Given the description of an element on the screen output the (x, y) to click on. 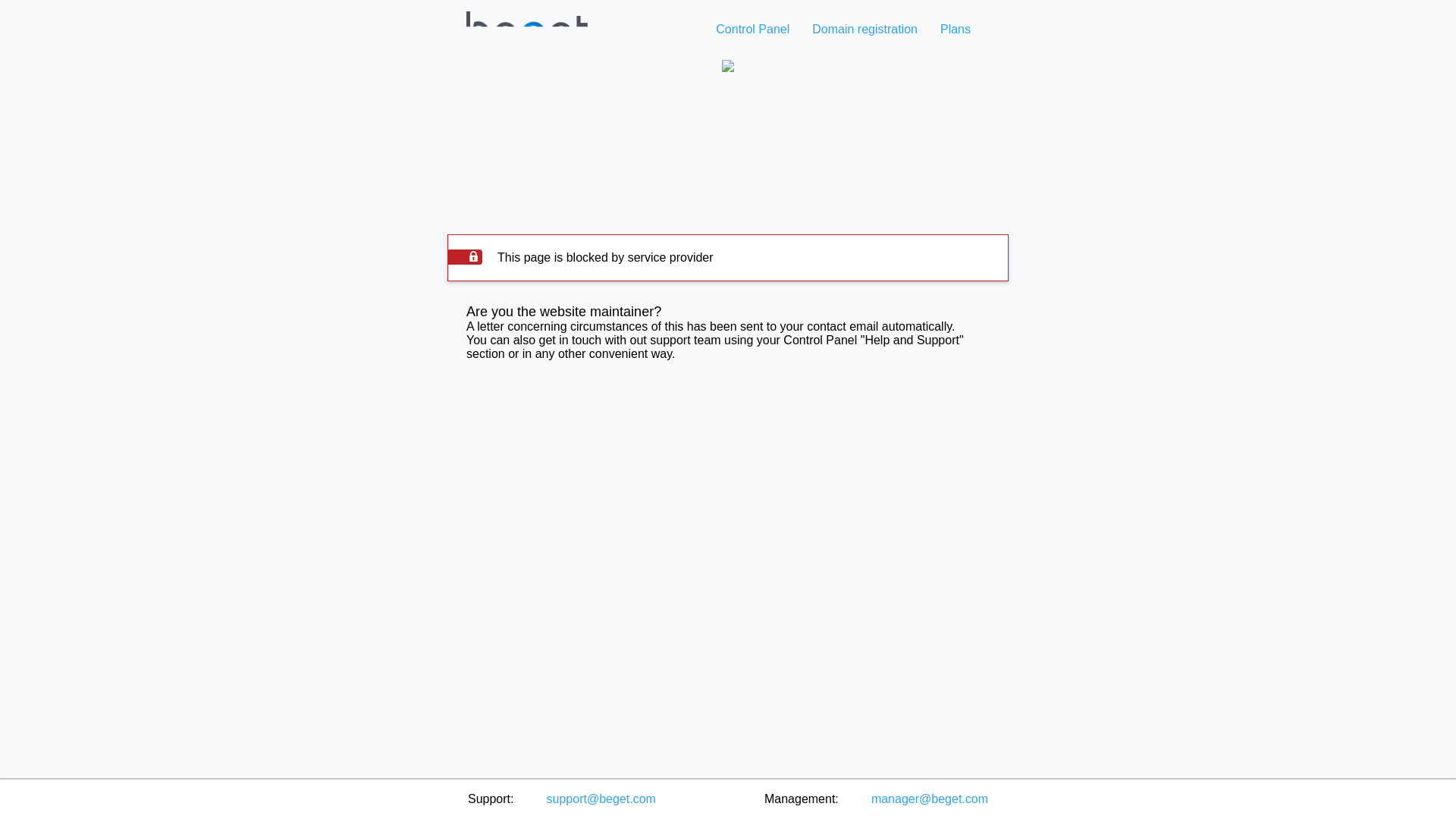
Control Panel (752, 29)
Plans (954, 29)
Domain registration (864, 29)
Web hosting home page (528, 51)
